Given the description of an element on the screen output the (x, y) to click on. 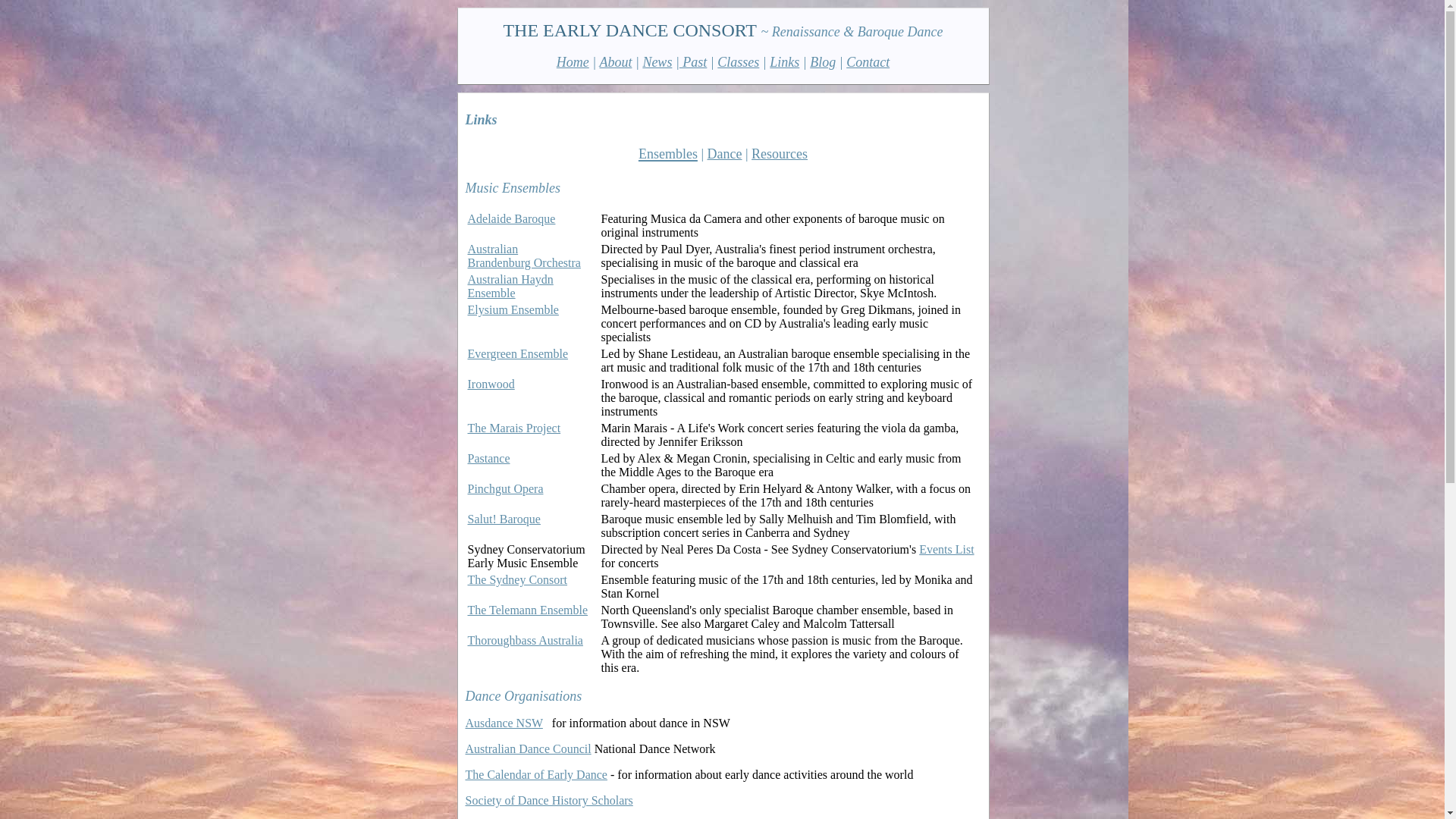
Ensembles Element type: text (667, 152)
The Sydney Consort Element type: text (517, 579)
Thoroughbass Australia Element type: text (524, 639)
Classes Element type: text (738, 61)
Australian Haydn Ensemble Element type: text (509, 286)
Australian Dance Council Element type: text (528, 748)
Evergreen Ensemble Element type: text (517, 353)
Ironwood Element type: text (490, 383)
Pinchgut Opera Element type: text (504, 488)
Links Element type: text (784, 61)
The Marais Project Element type: text (513, 427)
Past Element type: text (693, 61)
Society of Dance History Scholars Element type: text (549, 799)
News Element type: text (656, 61)
Home Element type: text (572, 61)
Dance Element type: text (724, 153)
Resources Element type: text (779, 153)
Events List Element type: text (946, 548)
The Calendar of Early Dance Element type: text (536, 774)
Elysium Ensemble Element type: text (512, 309)
Pastance Element type: text (488, 457)
Blog Element type: text (822, 61)
Ausdance NSW Element type: text (503, 722)
Australian
Brandenburg Orchestra Element type: text (523, 255)
About Element type: text (615, 61)
Salut! Baroque Element type: text (503, 518)
The Telemann Ensemble Element type: text (527, 609)
Contact Element type: text (867, 61)
Adelaide Baroque Element type: text (511, 218)
